Given the description of an element on the screen output the (x, y) to click on. 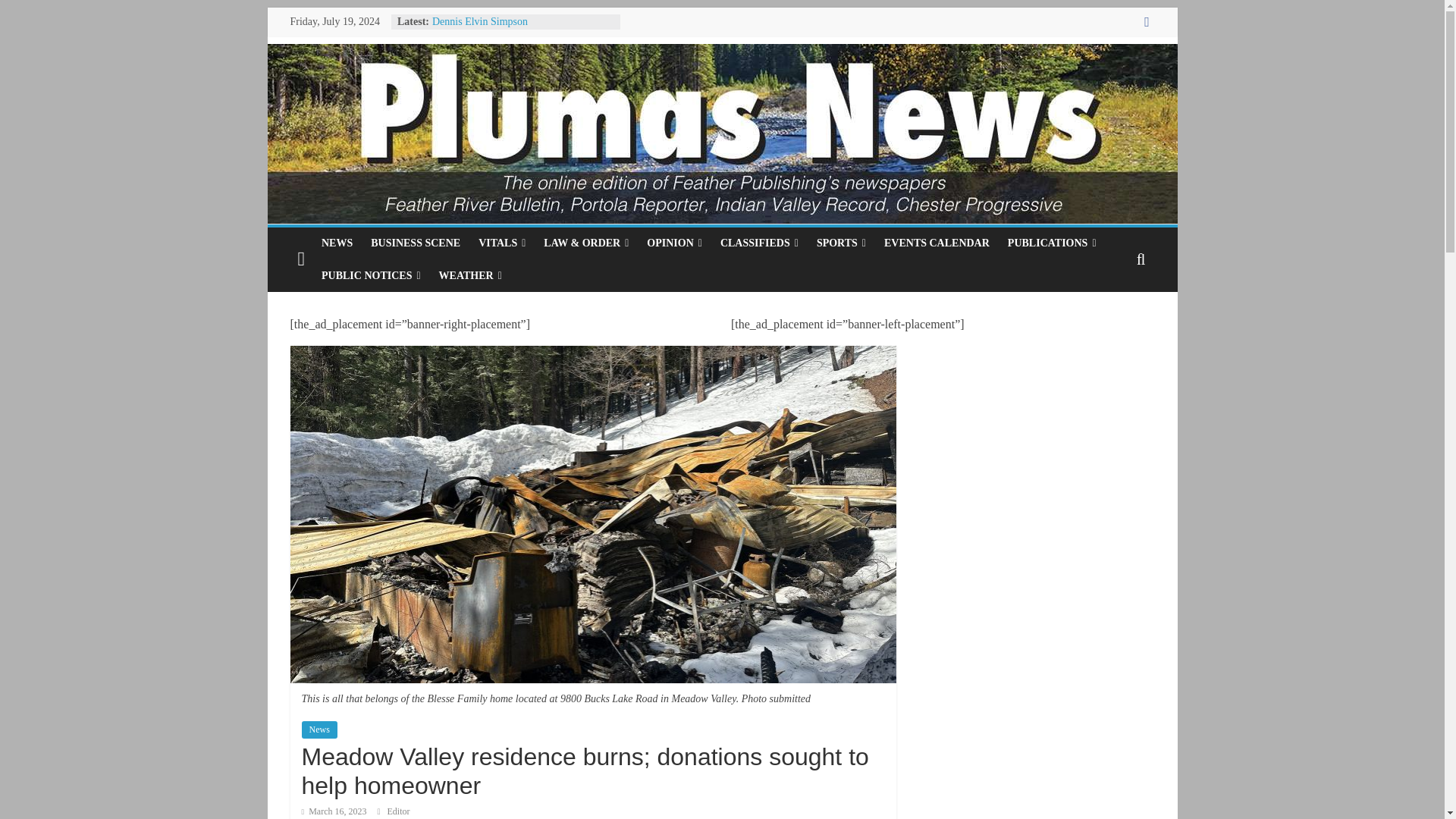
OPINION (674, 243)
NEWS (337, 243)
Dennis Elvin Simpson (479, 21)
SPORTS (841, 243)
EVENTS CALENDAR (936, 243)
VITALS (501, 243)
Dennis Elvin Simpson (479, 21)
CLASSIFIEDS (759, 243)
BUSINESS SCENE (414, 243)
PUBLICATIONS (1051, 243)
4:03 pm (333, 810)
Editor (398, 810)
